Given the description of an element on the screen output the (x, y) to click on. 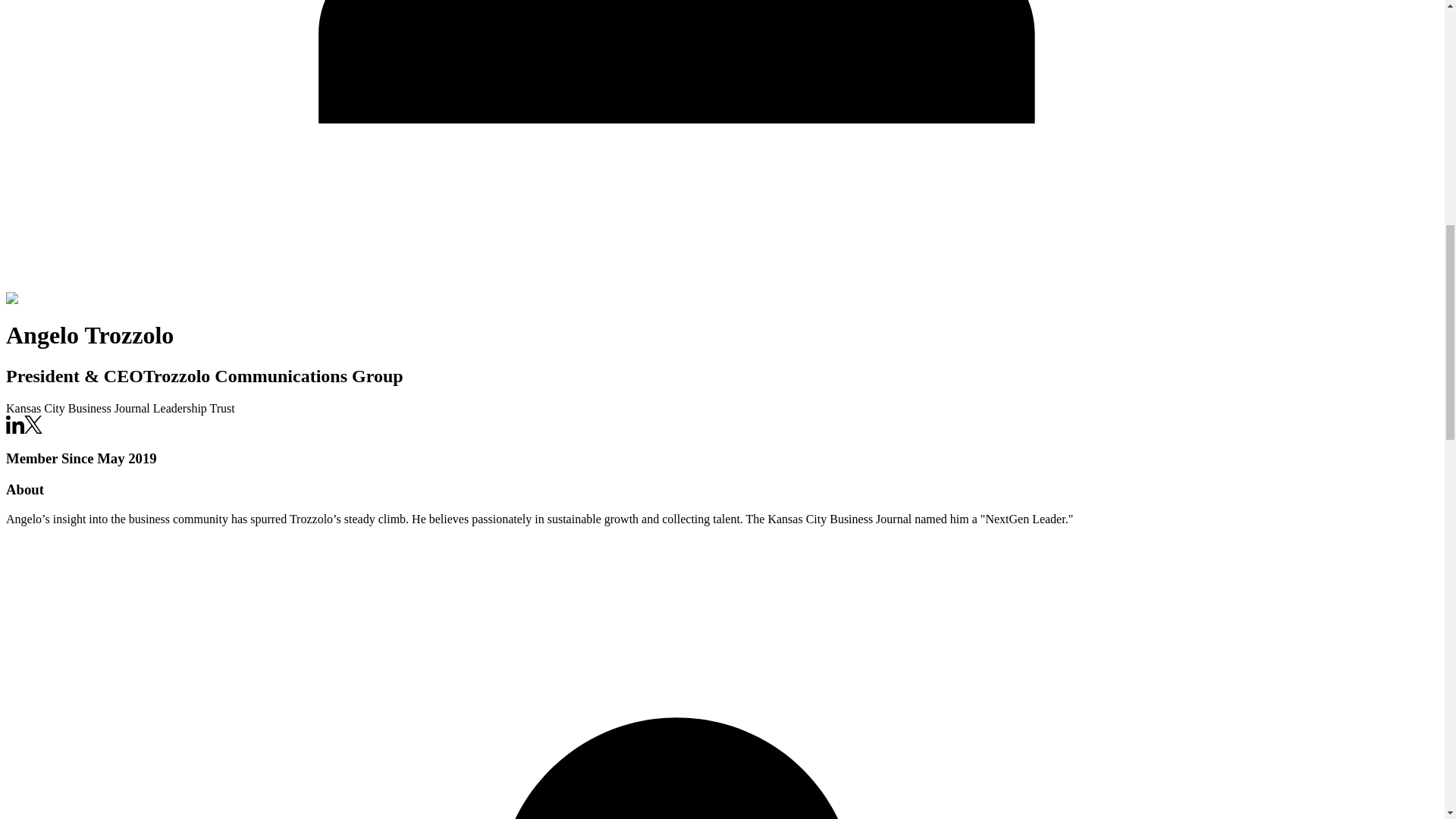
X (33, 424)
LinkedIn (14, 424)
LinkedIn (14, 429)
X (33, 429)
